Given the description of an element on the screen output the (x, y) to click on. 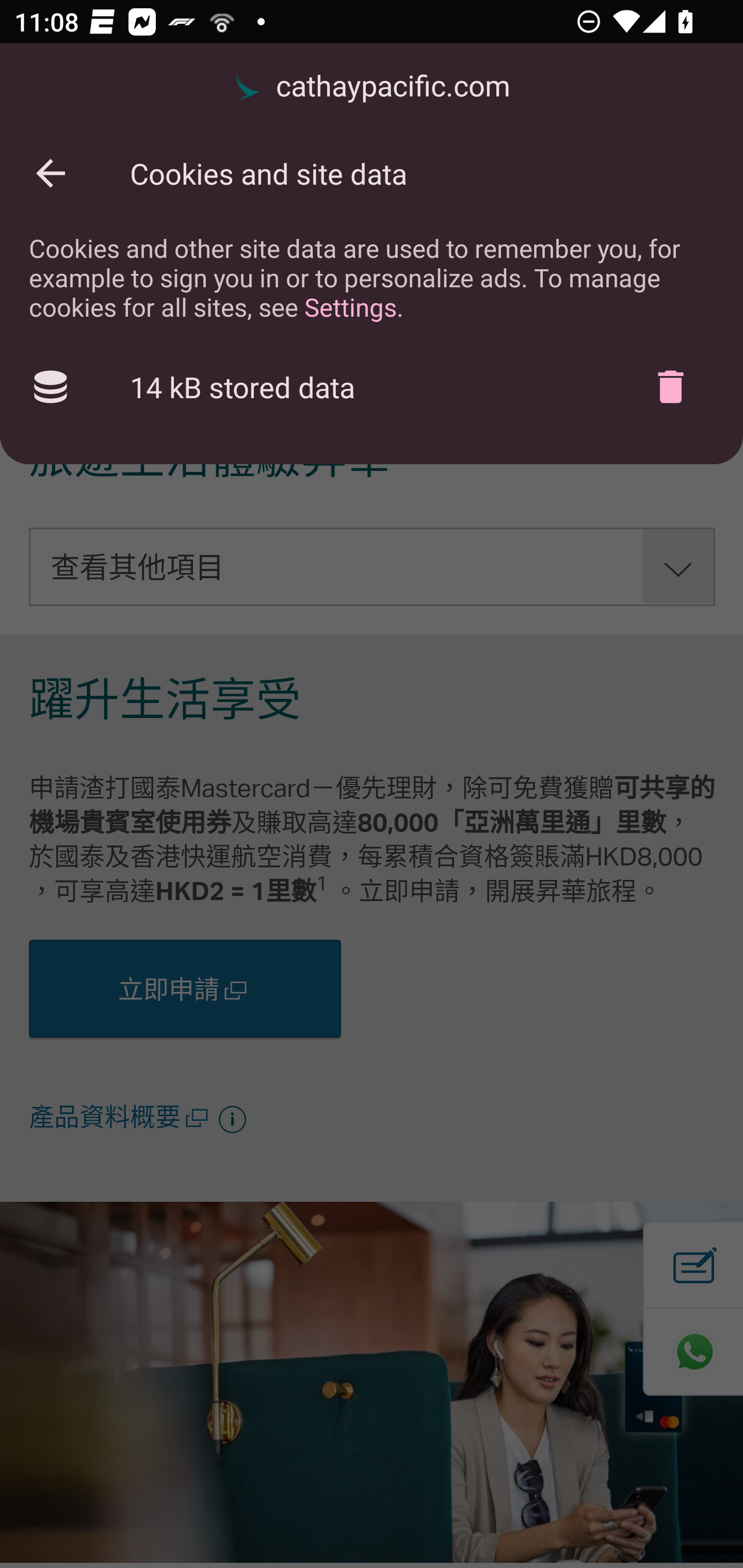
cathaypacific.com (371, 86)
Back (50, 173)
14 kB stored data Delete cookies? (371, 386)
